Given the description of an element on the screen output the (x, y) to click on. 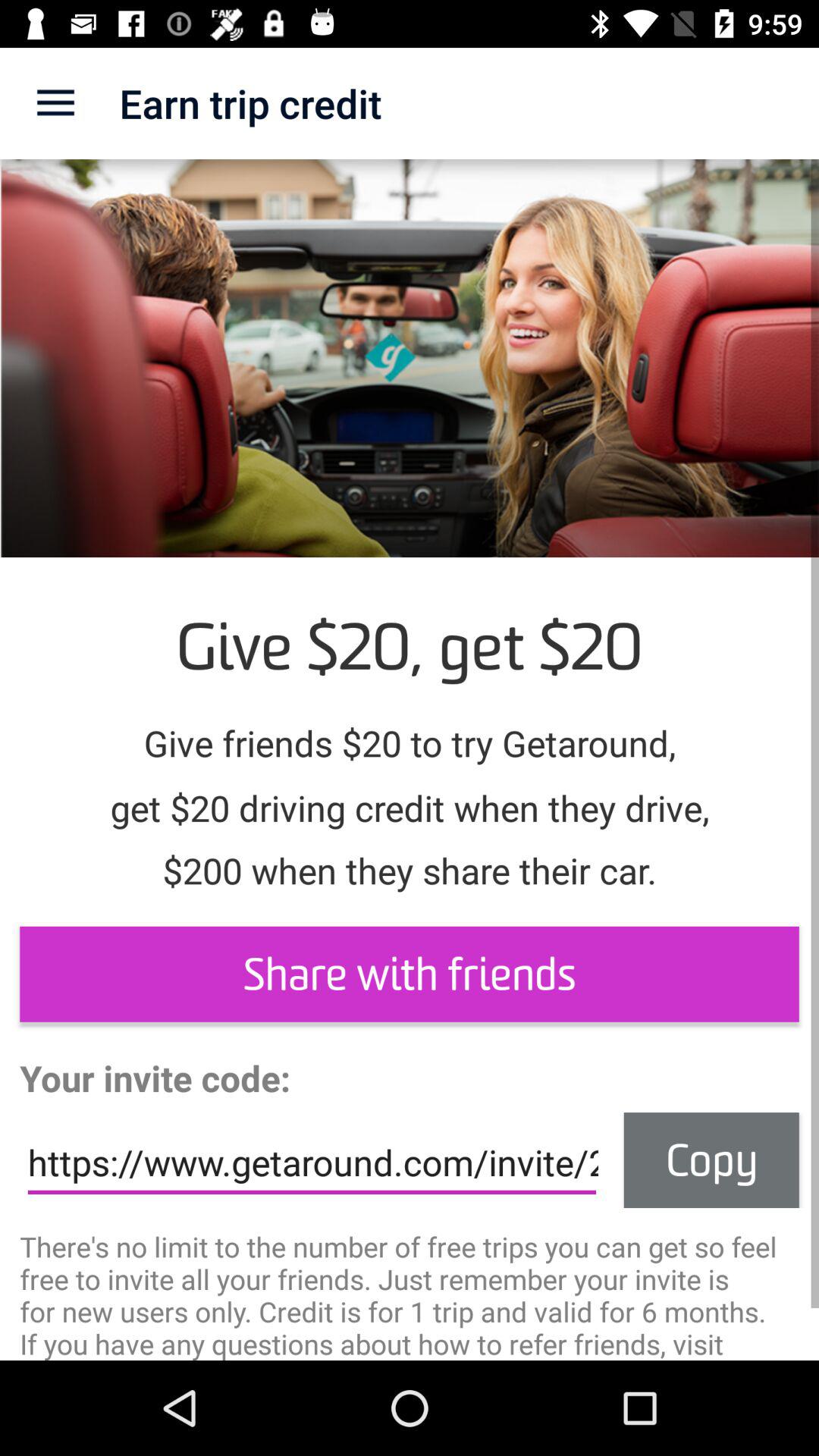
choose the icon to the right of https www getaround icon (711, 1160)
